Given the description of an element on the screen output the (x, y) to click on. 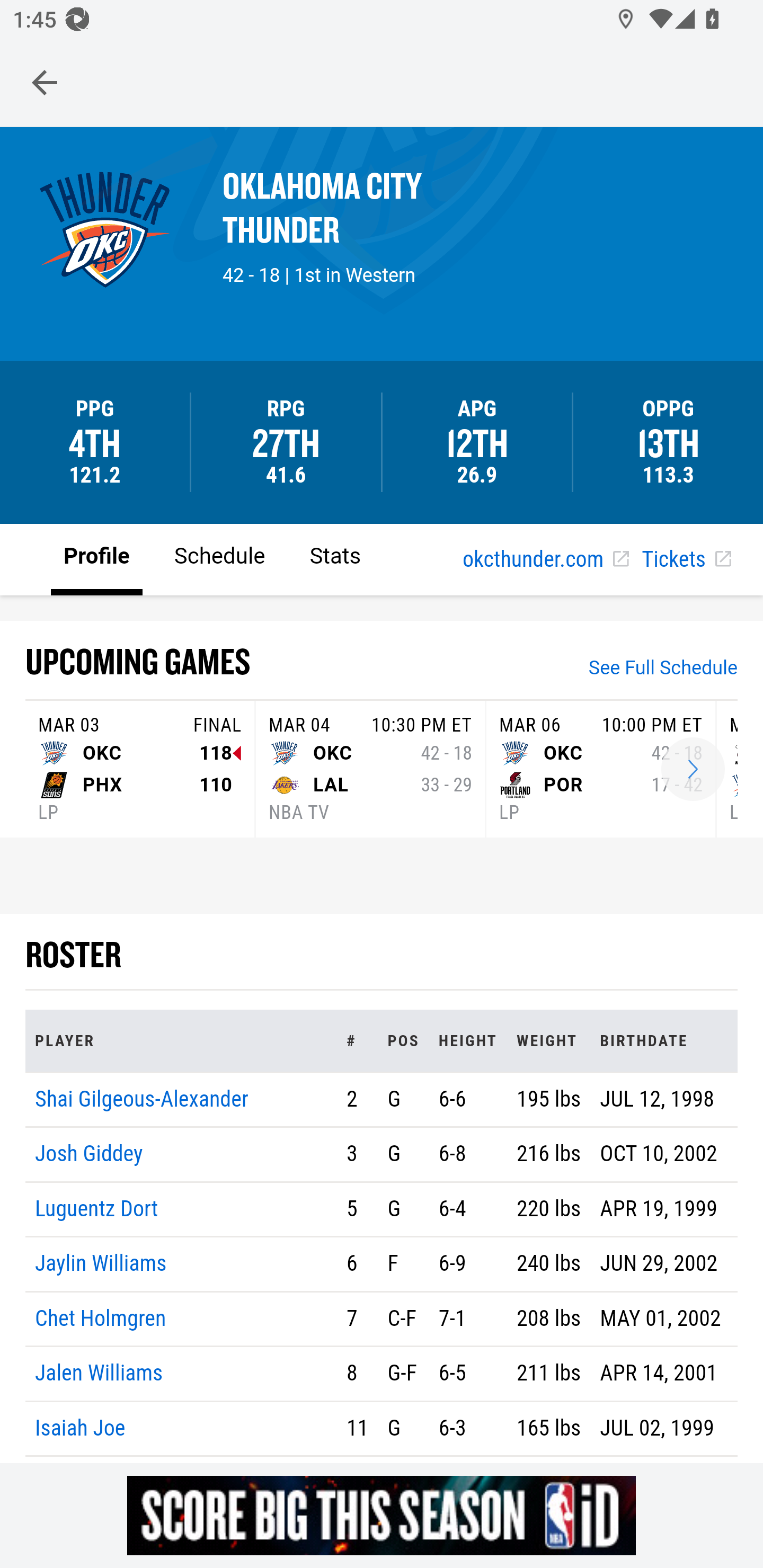
Navigate up (44, 82)
Profile (97, 558)
Schedule (219, 558)
Stats (335, 558)
okcthunder.com (544, 560)
Tickets (685, 560)
See Full Schedule (662, 669)
Match-up Scores (692, 769)
Shai Gilgeous-Alexander (142, 1098)
Josh Giddey (89, 1154)
Luguentz Dort (96, 1207)
Jaylin Williams (101, 1264)
Chet Holmgren (101, 1317)
Jalen Williams (99, 1374)
Isaiah Joe (80, 1427)
